Given the description of an element on the screen output the (x, y) to click on. 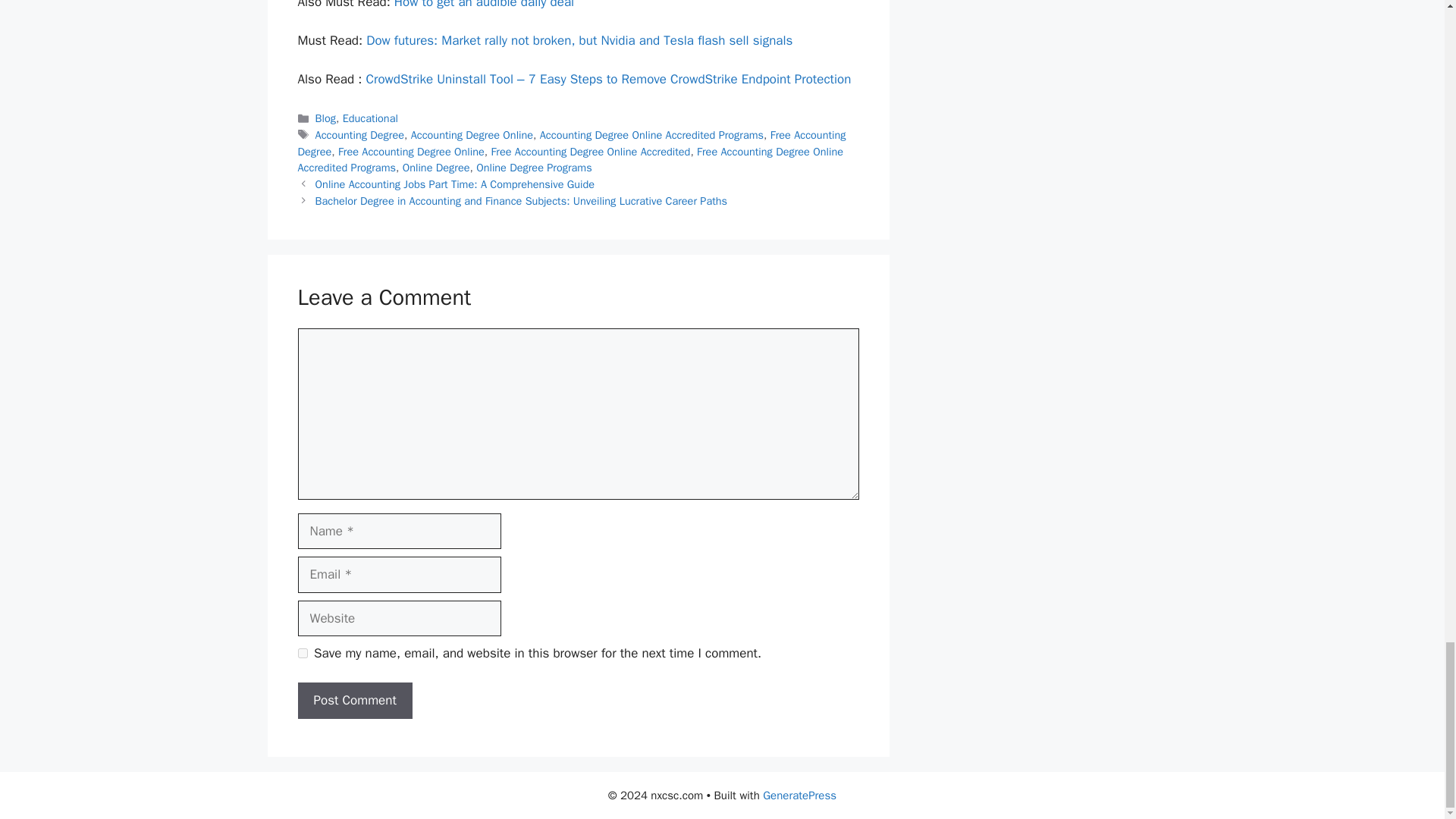
How to get an audible daily deal (483, 4)
Accounting Degree (359, 134)
GeneratePress (798, 795)
yes (302, 653)
Blog (325, 118)
Online Degree (436, 167)
Accounting Degree Online Accredited Programs (651, 134)
Online Accounting Jobs Part Time: A Comprehensive Guide (455, 183)
Free Accounting Degree Online Accredited Programs (570, 159)
Post Comment (354, 700)
